Given the description of an element on the screen output the (x, y) to click on. 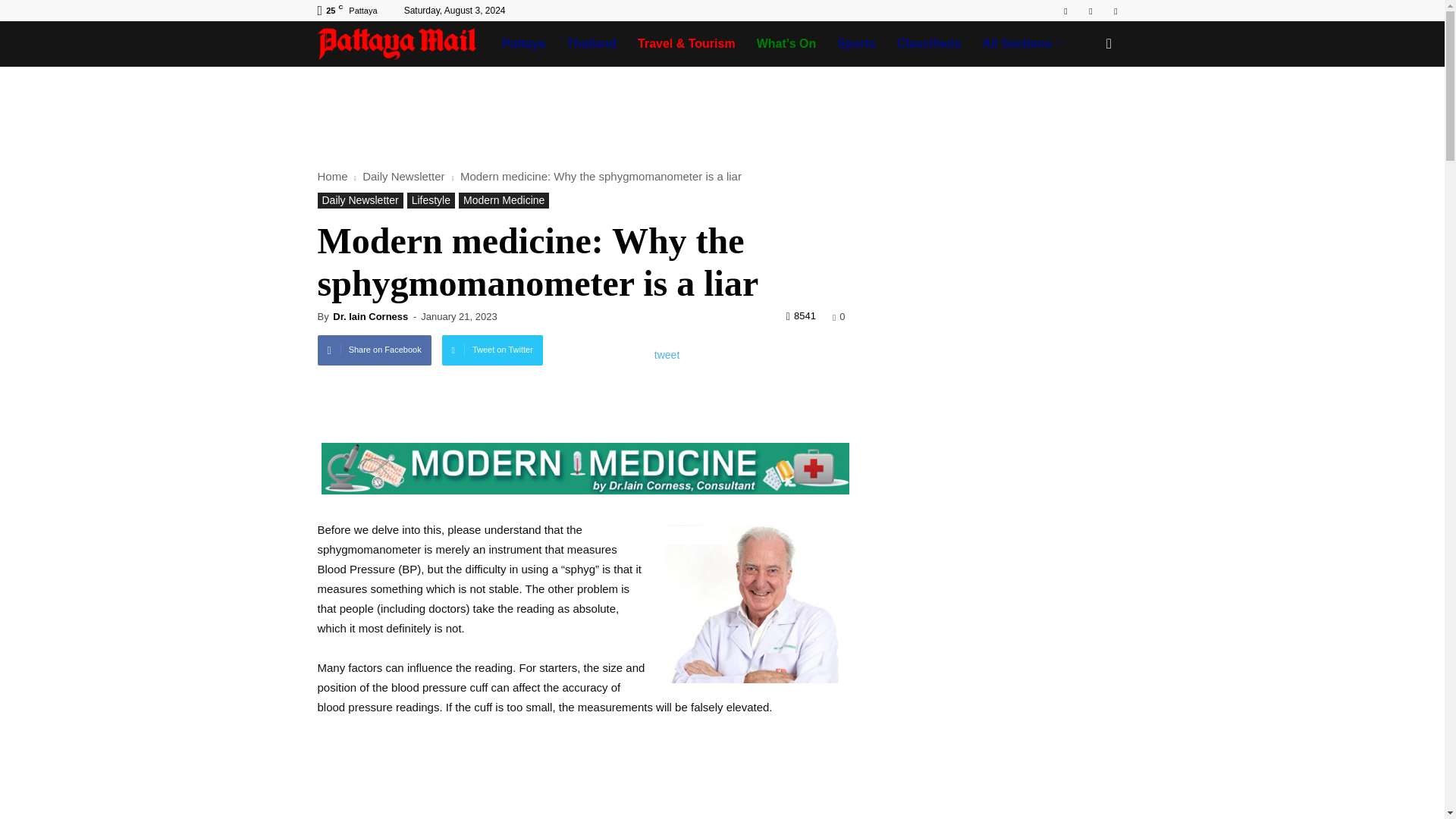
Sports (856, 43)
All Sections (1023, 43)
Facebook (1065, 10)
View all posts in Daily Newsletter (405, 175)
Pattaya (524, 43)
Thailand (591, 43)
Pattaya Mail (404, 44)
Twitter (1114, 10)
Classifieds (928, 43)
Linkedin (1090, 10)
